Given the description of an element on the screen output the (x, y) to click on. 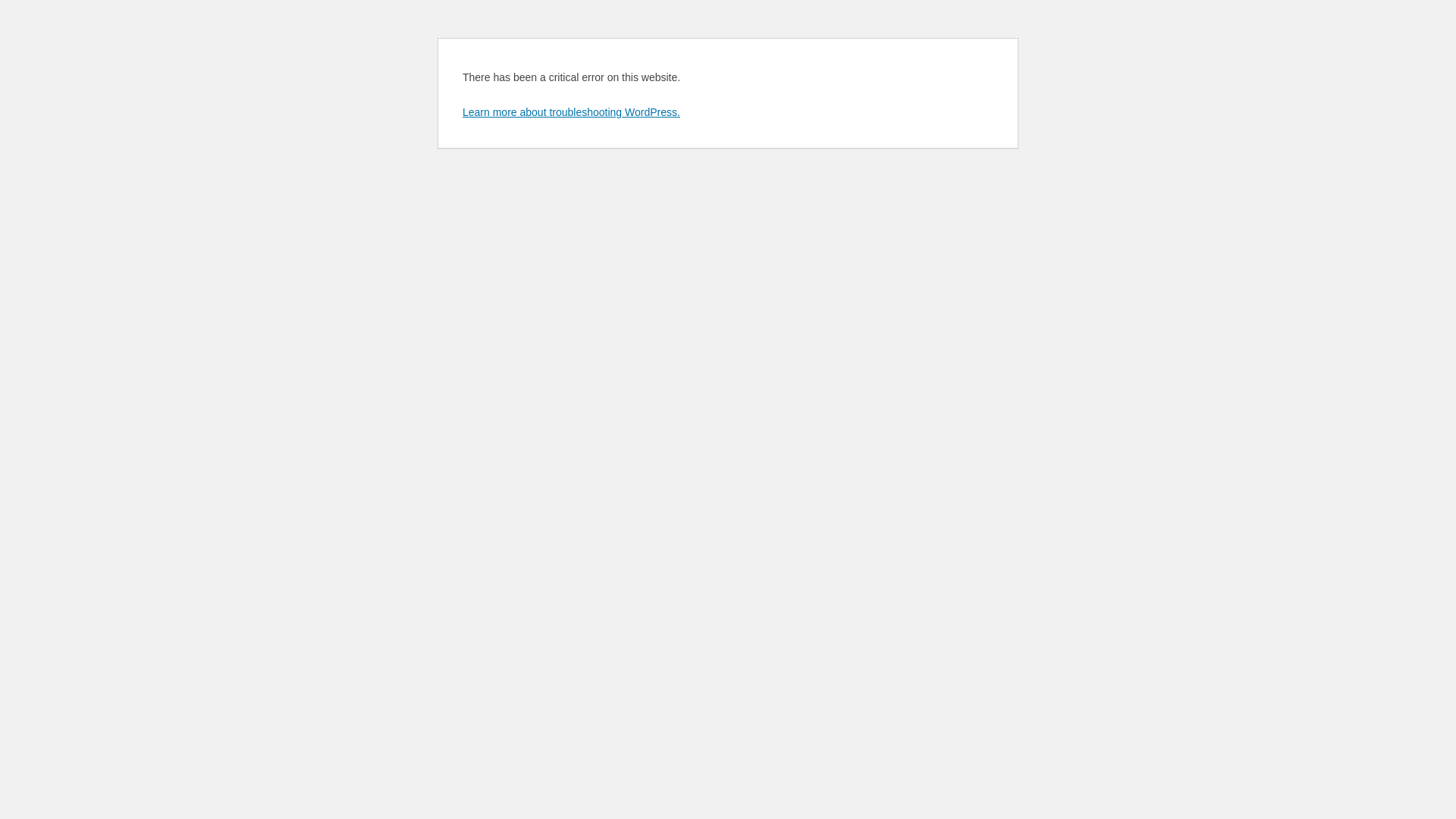
Learn more about troubleshooting WordPress. Element type: text (571, 112)
